Given the description of an element on the screen output the (x, y) to click on. 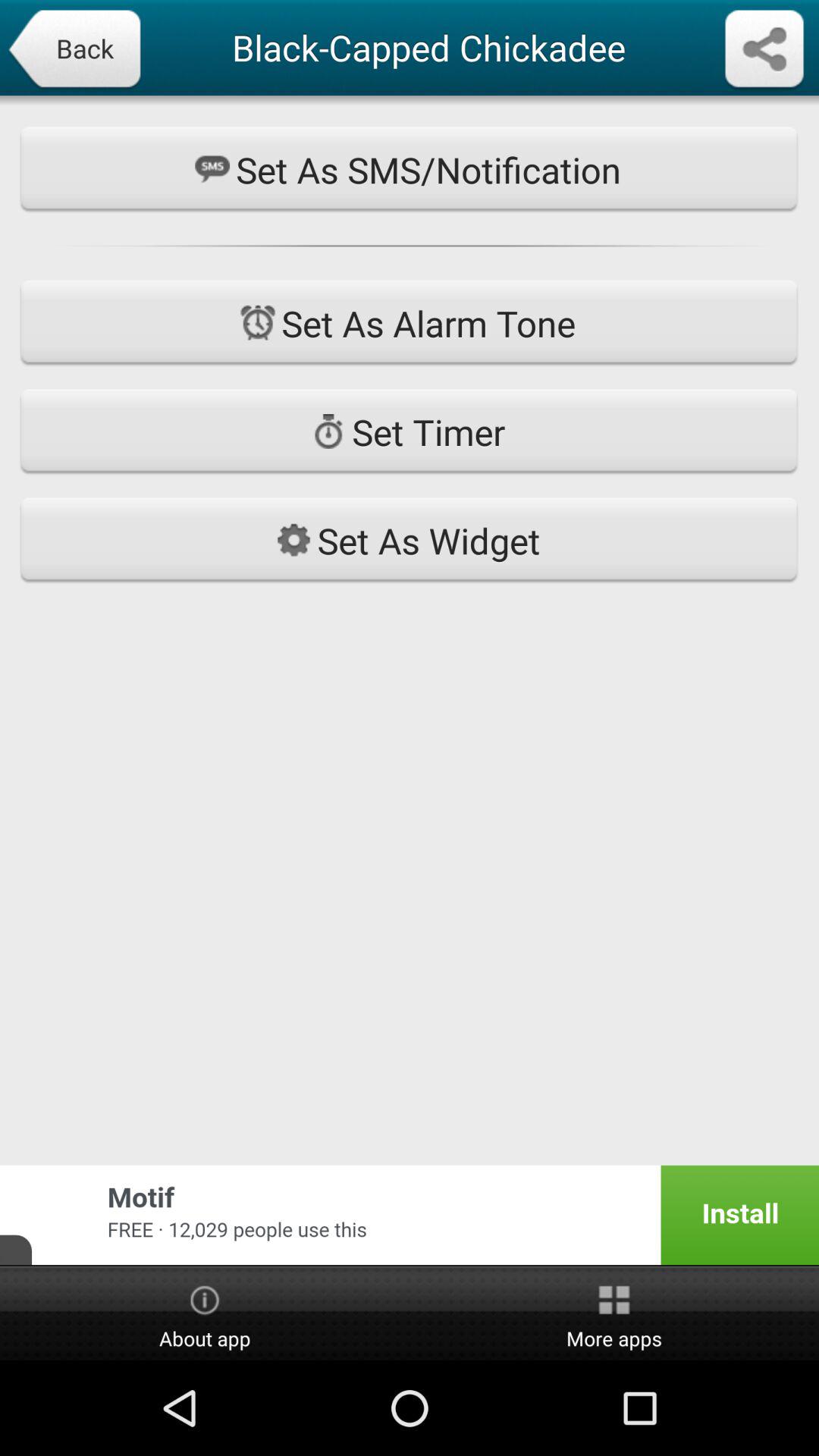
go to advertisement 's webpage (409, 1214)
